Given the description of an element on the screen output the (x, y) to click on. 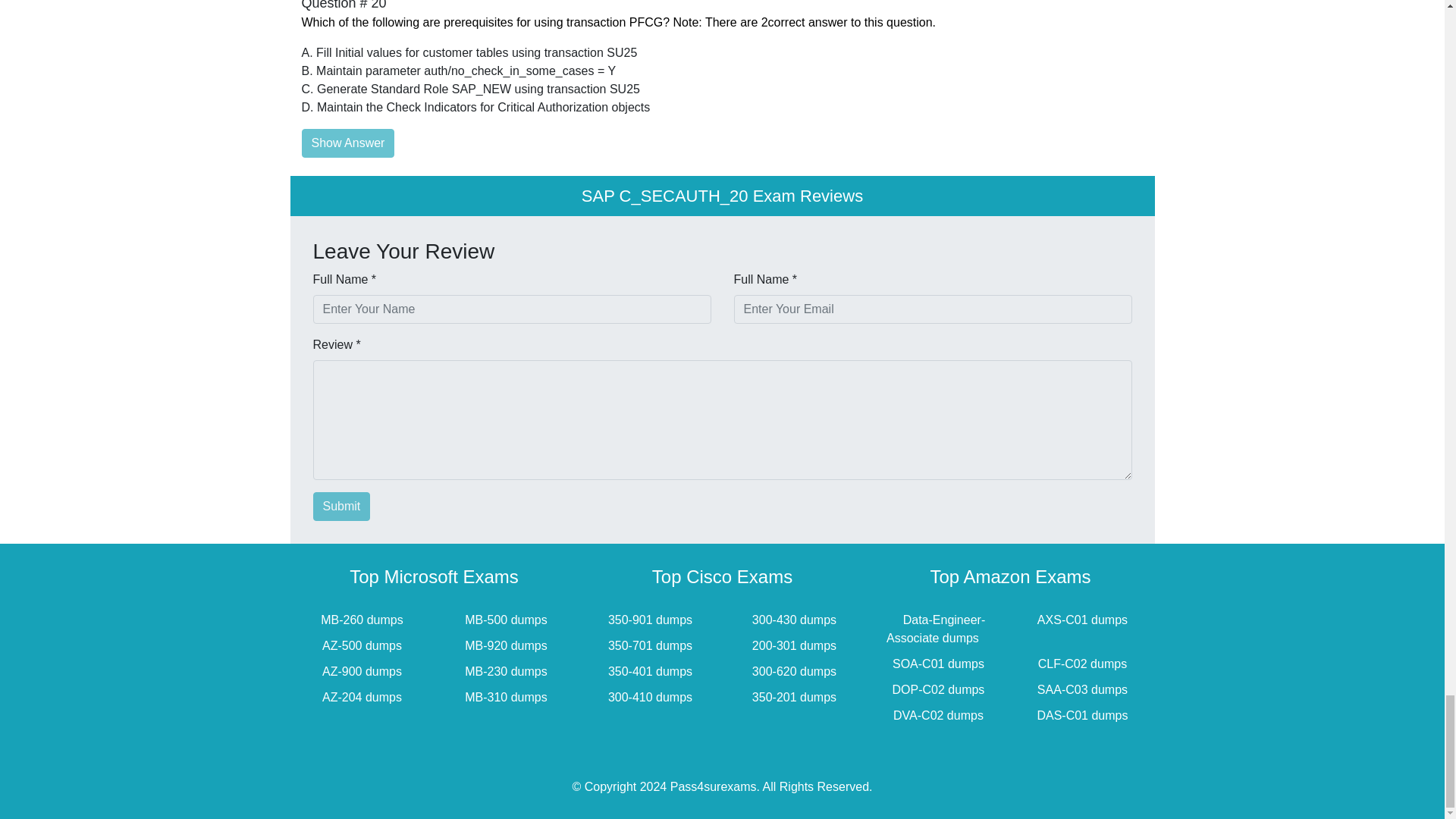
Show Answer (347, 143)
Submit (341, 506)
MB-260 dumps (361, 619)
